Given the description of an element on the screen output the (x, y) to click on. 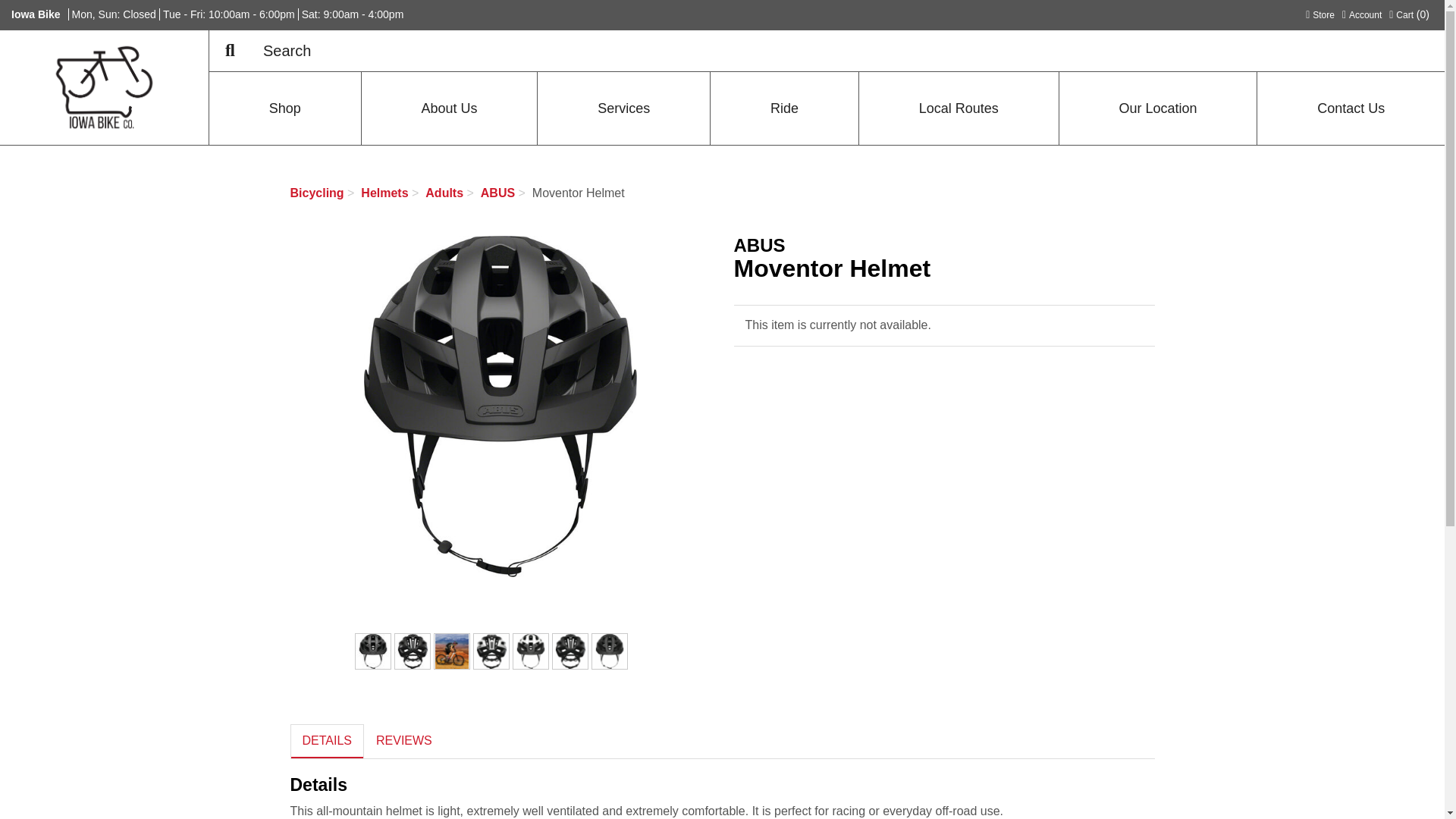
Iowa Bike Home Page (1361, 14)
Cart (36, 14)
Store (1409, 14)
Iowa Bike Home Page (1320, 14)
Shop (103, 86)
Account (285, 108)
Search (1361, 14)
Iowa Bike (229, 51)
